Given the description of an element on the screen output the (x, y) to click on. 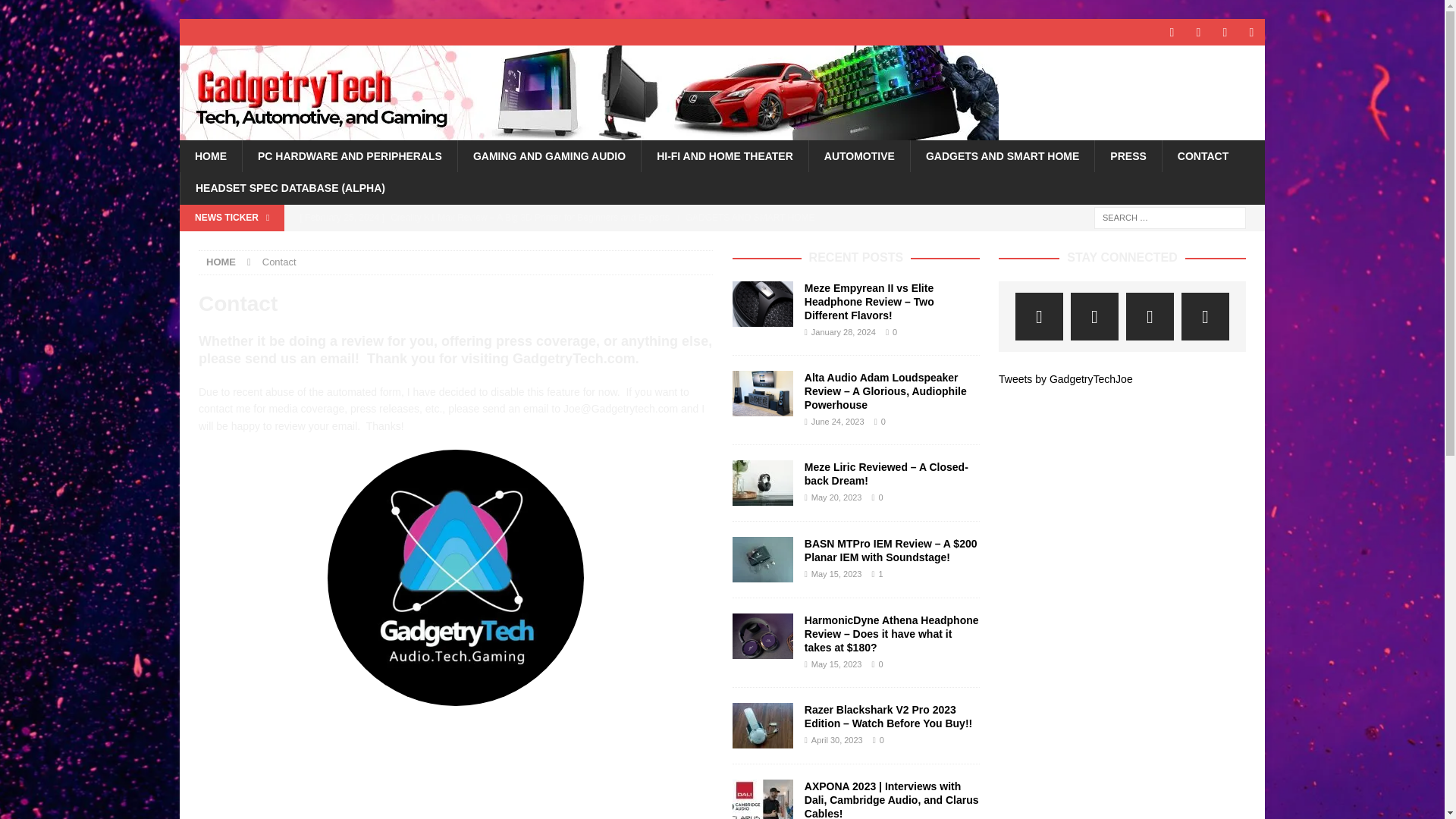
January 28, 2024 (843, 331)
GAMING AND GAMING AUDIO (548, 155)
GADGETS AND SMART HOME (1002, 155)
GadgetryTech.com (588, 132)
HI-FI AND HOME THEATER (724, 155)
HOME (210, 155)
PRESS (1127, 155)
HOME (220, 261)
Search (56, 11)
AUTOMOTIVE (859, 155)
